Given the description of an element on the screen output the (x, y) to click on. 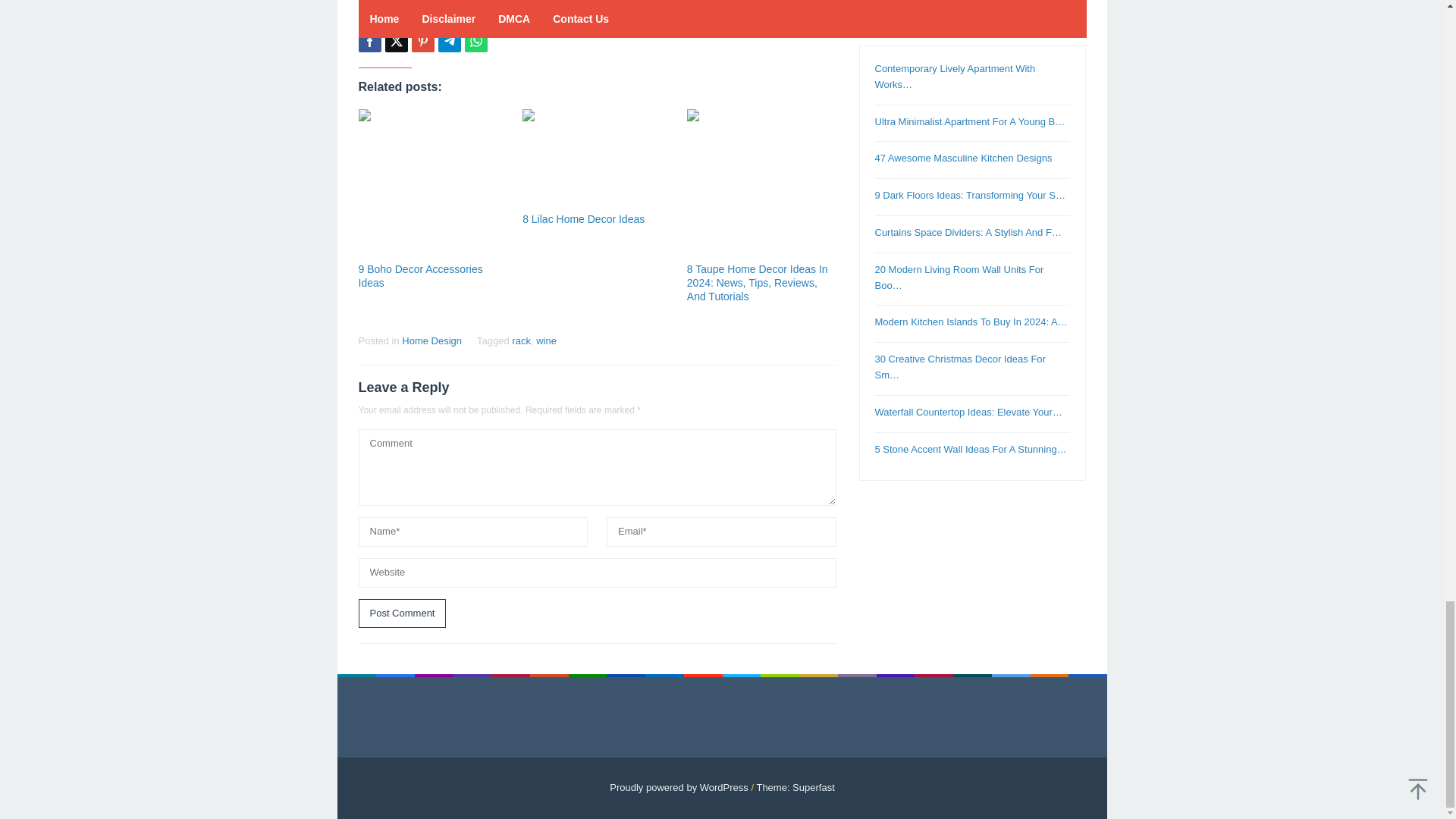
Permalink to: 8 Lilac Home Decor Ideas (583, 218)
Permalink to: 9 Boho Decor Accessories Ideas (432, 183)
Post Comment (401, 613)
Share this (369, 40)
Telegram Share (449, 40)
Theme: Superfast (794, 787)
Whatsapp (475, 40)
8 Lilac Home Decor Ideas (583, 218)
Tweet this (396, 40)
Post Comment (401, 613)
9 Boho Decor Accessories Ideas (419, 275)
rack (521, 340)
Proudly powered by WordPress (679, 787)
